Given the description of an element on the screen output the (x, y) to click on. 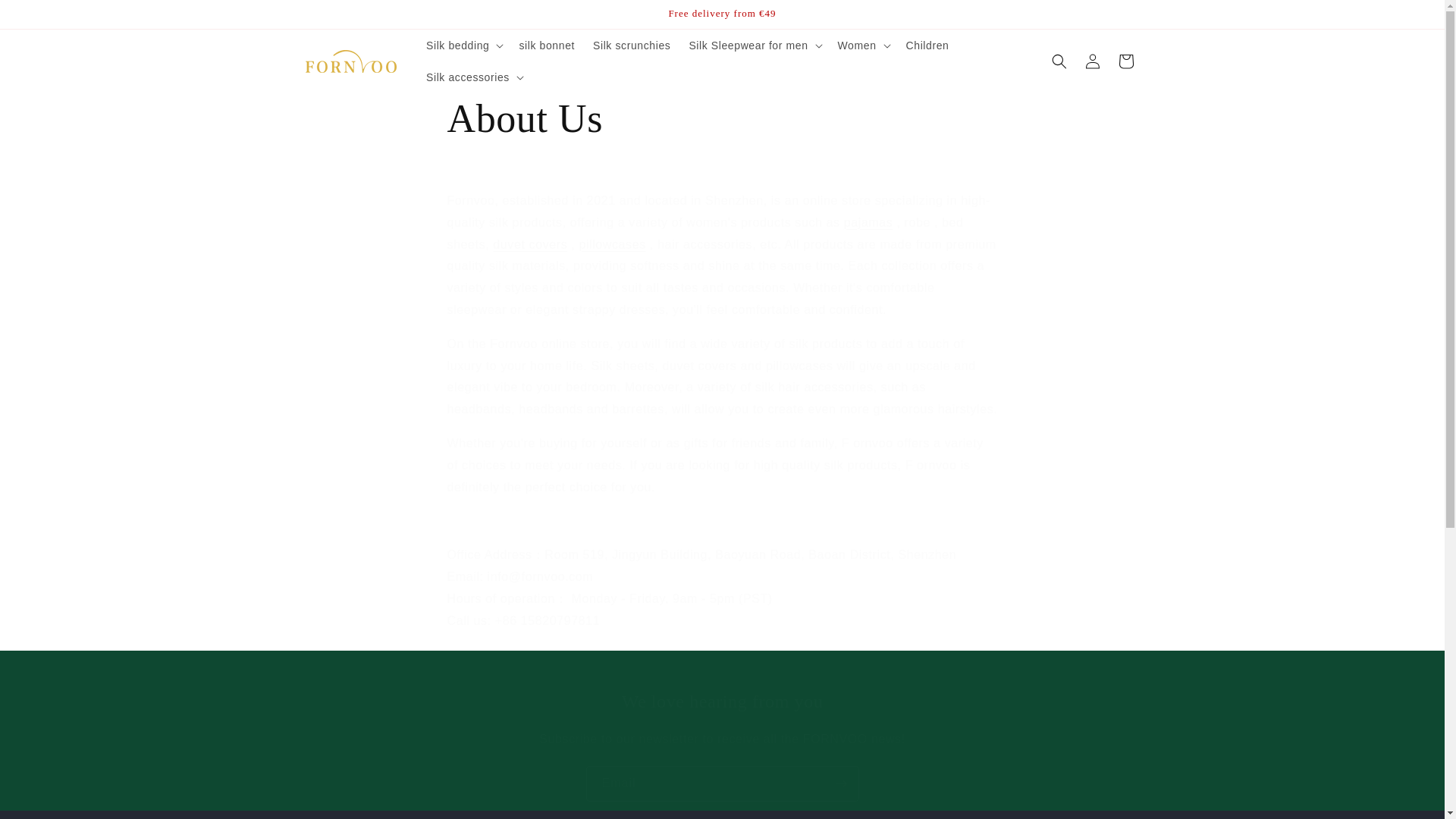
Subscribe to our newsletter to receive all the FORNVOO news! (722, 739)
silk pillowcases (611, 244)
Skip to content (45, 17)
silk payamas (868, 222)
Email (722, 783)
We love hearing from you (721, 701)
About Us (721, 118)
silk duvet cover (530, 244)
